Given the description of an element on the screen output the (x, y) to click on. 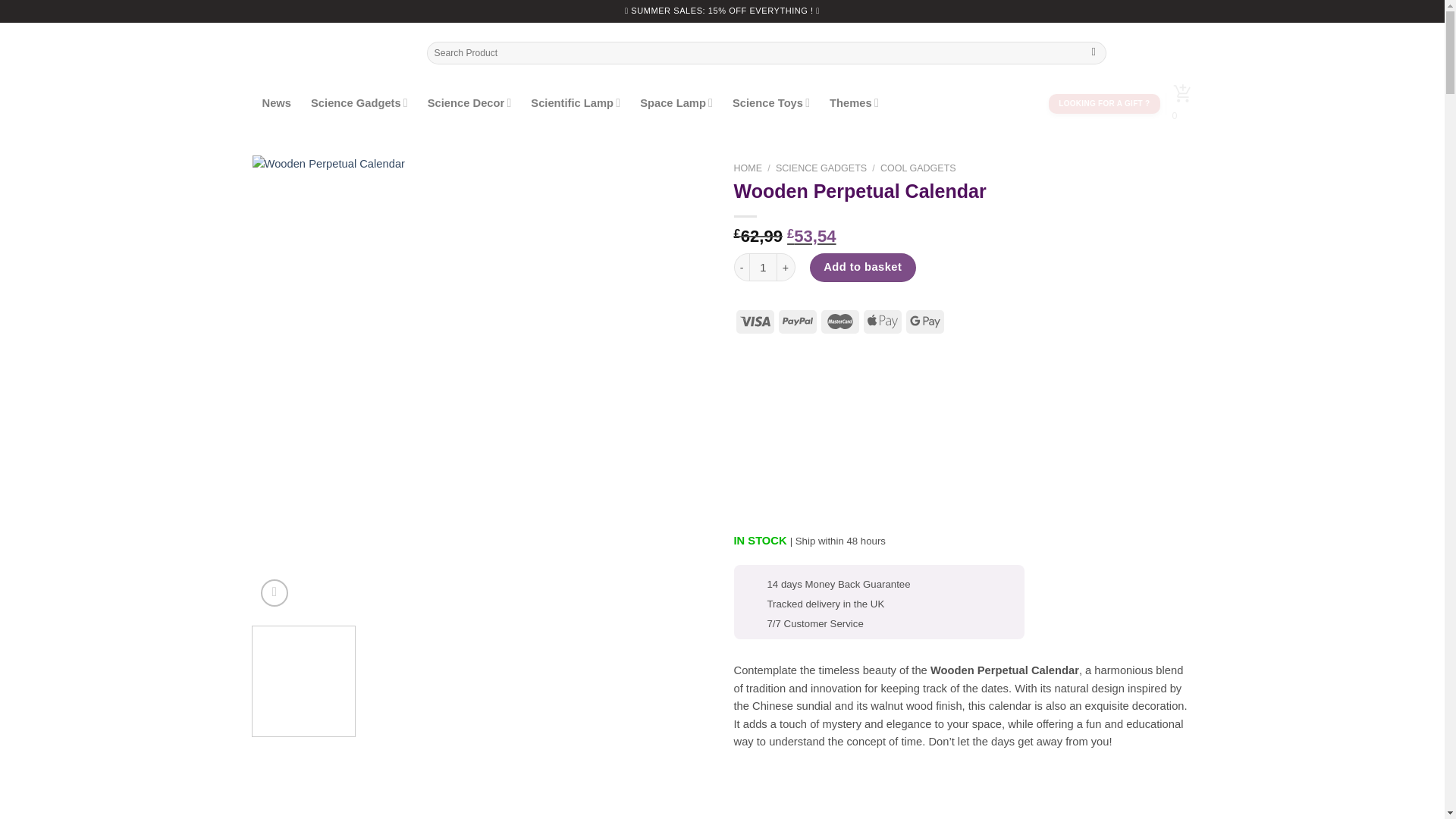
Zoom (274, 592)
Scientific Lamp (575, 102)
1 (763, 267)
Space Lamp (676, 102)
News (276, 102)
Search (1093, 52)
Science Gadgets (359, 102)
Science Decor (469, 102)
